Given the description of an element on the screen output the (x, y) to click on. 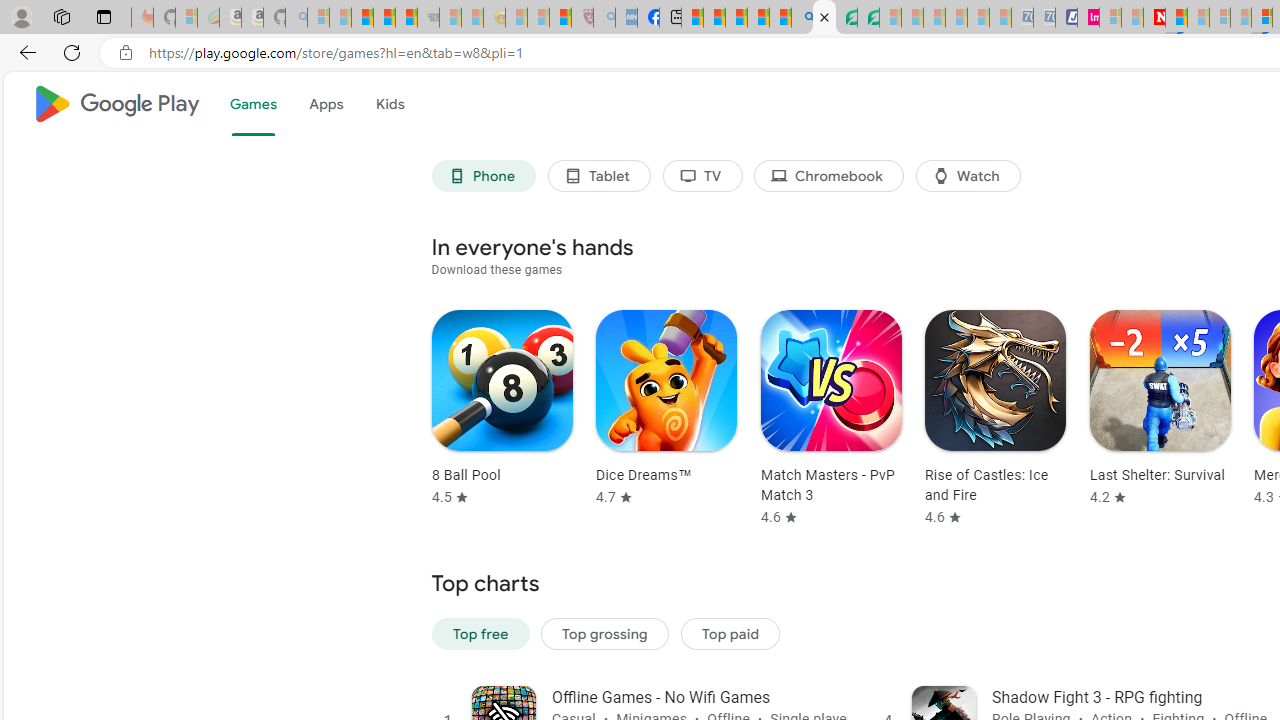
google - Search (802, 17)
Microsoft Word - consumer-privacy address update 2.2021 (868, 17)
Pets - MSN (758, 17)
TV (701, 175)
Trusted Community Engagement and Contributions | Guidelines (1176, 17)
Cheap Hotels - Save70.com - Sleeping (1044, 17)
Microsoft-Report a Concern to Bing - Sleeping (186, 17)
list of asthma inhalers uk - Search - Sleeping (604, 17)
